Given the description of an element on the screen output the (x, y) to click on. 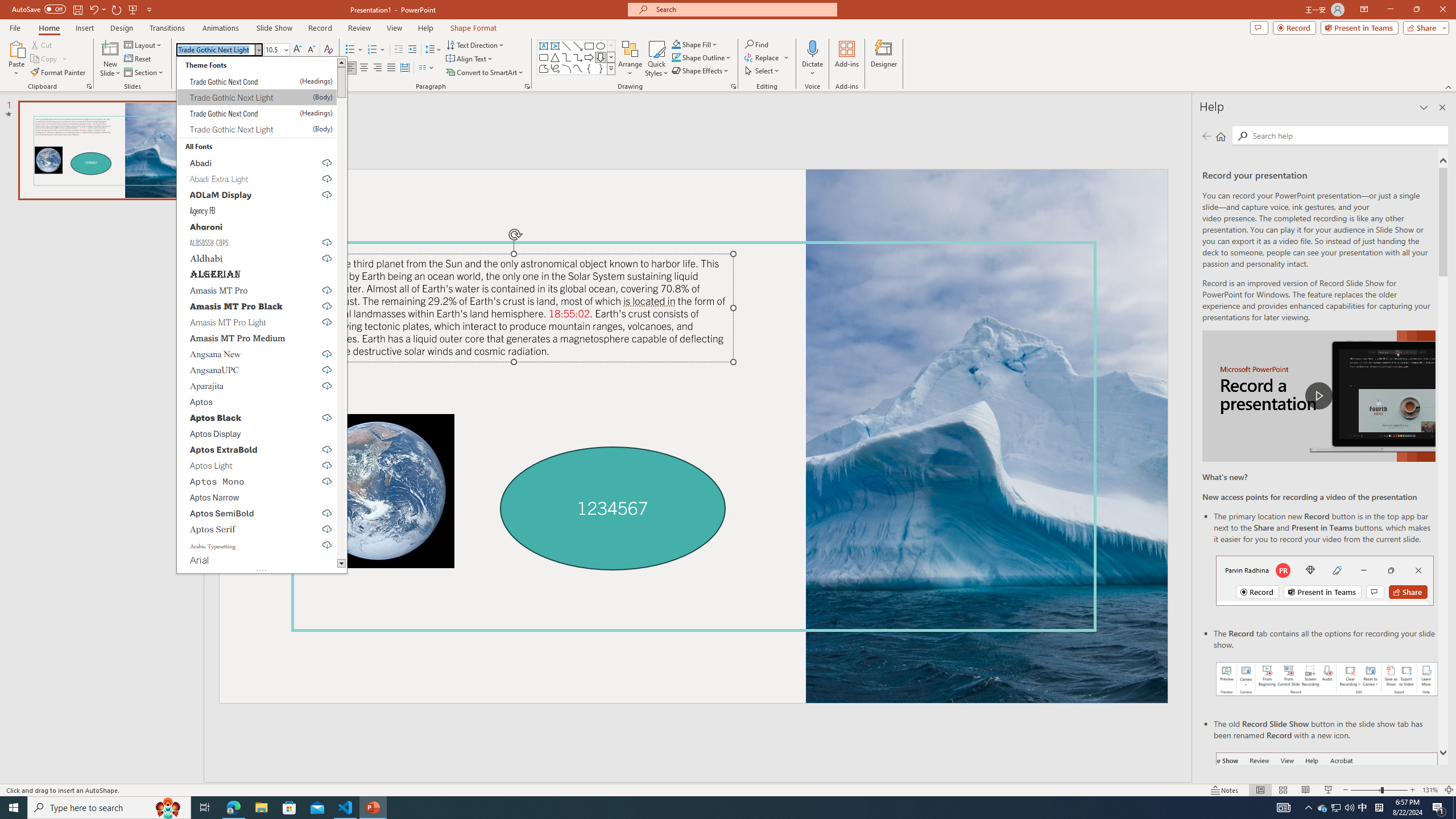
Aptos Light, select to download (256, 465)
Align Left (349, 67)
Arabic Typesetting, select to download (256, 544)
Text Highlight Color (302, 67)
New Slide (110, 48)
Dictate (812, 58)
Designer (883, 58)
Trade Gothic Next Cond (Headings) (256, 112)
Columns (426, 67)
Comments (1259, 27)
Aparajita, select to download (256, 385)
Replace... (767, 56)
Oval (600, 45)
AngsanaUPC, select to download (256, 369)
